Given the description of an element on the screen output the (x, y) to click on. 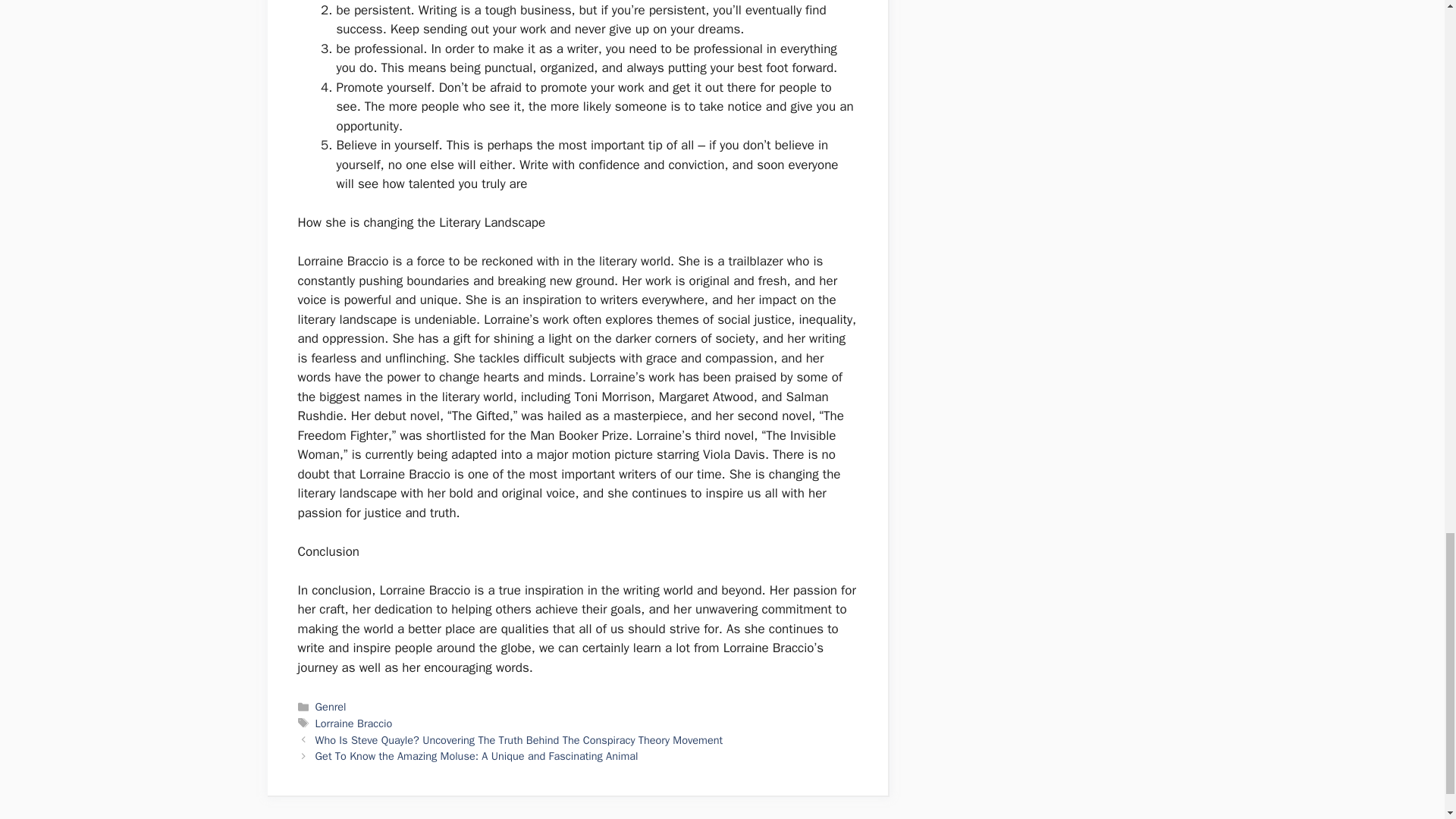
Genrel (330, 706)
Lorraine Braccio (354, 723)
